Given the description of an element on the screen output the (x, y) to click on. 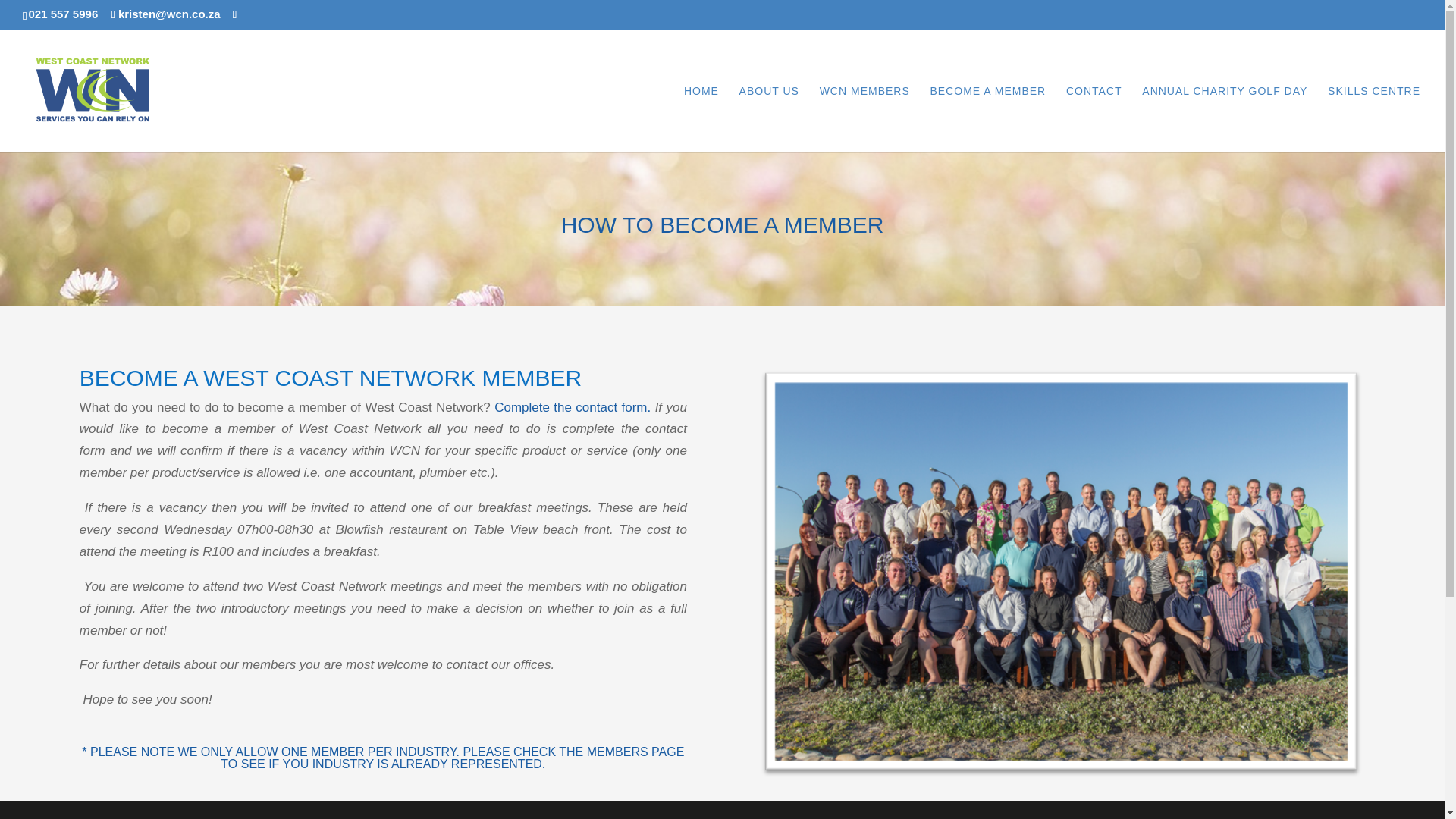
Complete the contact form. (572, 407)
ABOUT US (769, 118)
ANNUAL CHARITY GOLF DAY (1224, 118)
WCN MEMBERS (864, 118)
BECOME A MEMBER (988, 118)
MEMBERS PAGE (635, 751)
SKILLS CENTRE (1374, 118)
